Given the description of an element on the screen output the (x, y) to click on. 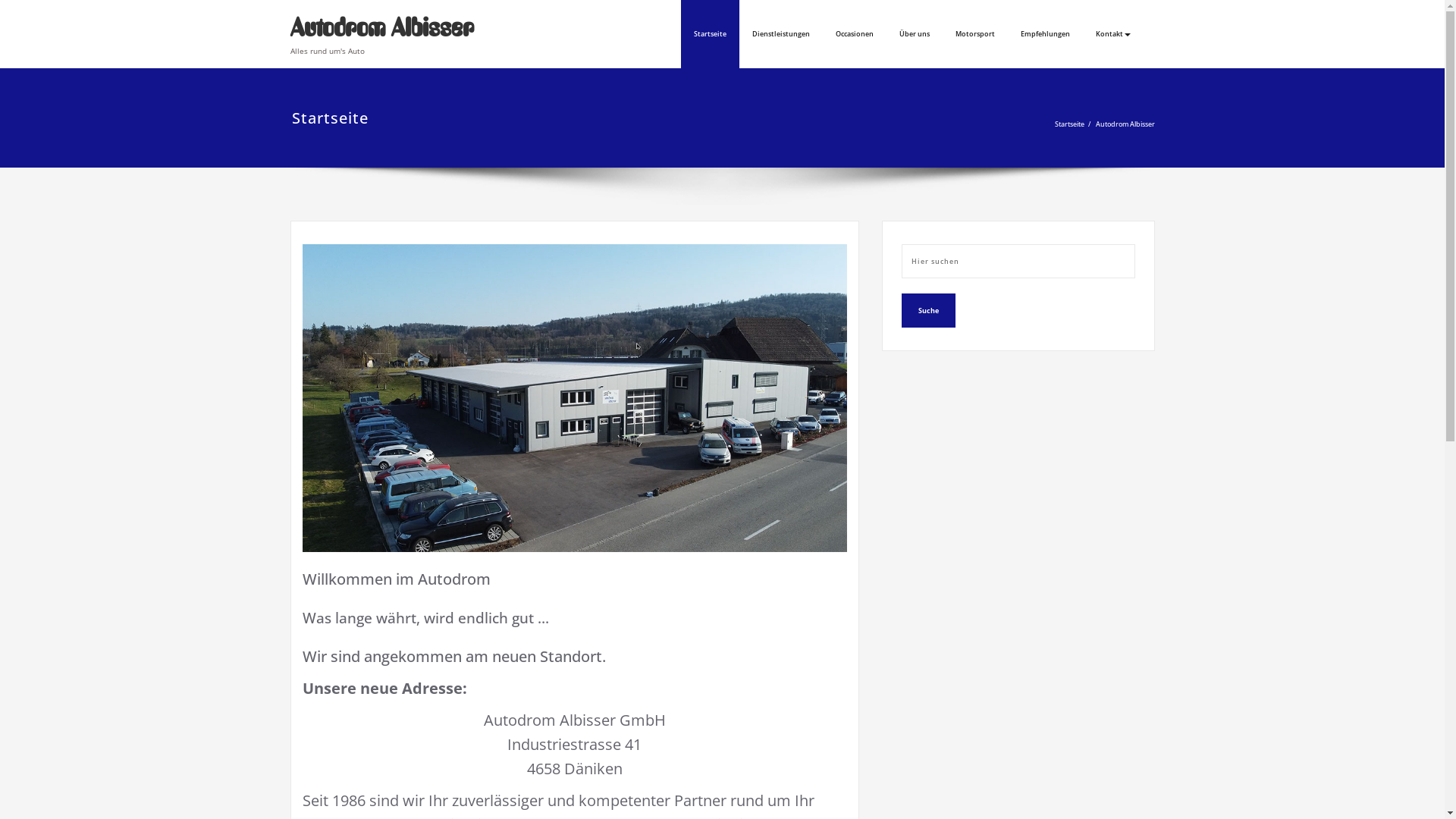
Autodrom Albisser Element type: text (381, 26)
Suche Element type: text (927, 310)
Dienstleistungen Element type: text (780, 34)
Startseite Element type: text (1068, 123)
Motorsport Element type: text (974, 34)
Startseite Element type: text (709, 34)
Skip to content Element type: text (0, 0)
Occasionen Element type: text (853, 34)
Kontakt Element type: text (1112, 34)
Empfehlungen Element type: text (1044, 34)
Autodrom Albisser Element type: text (1124, 123)
